Given the description of an element on the screen output the (x, y) to click on. 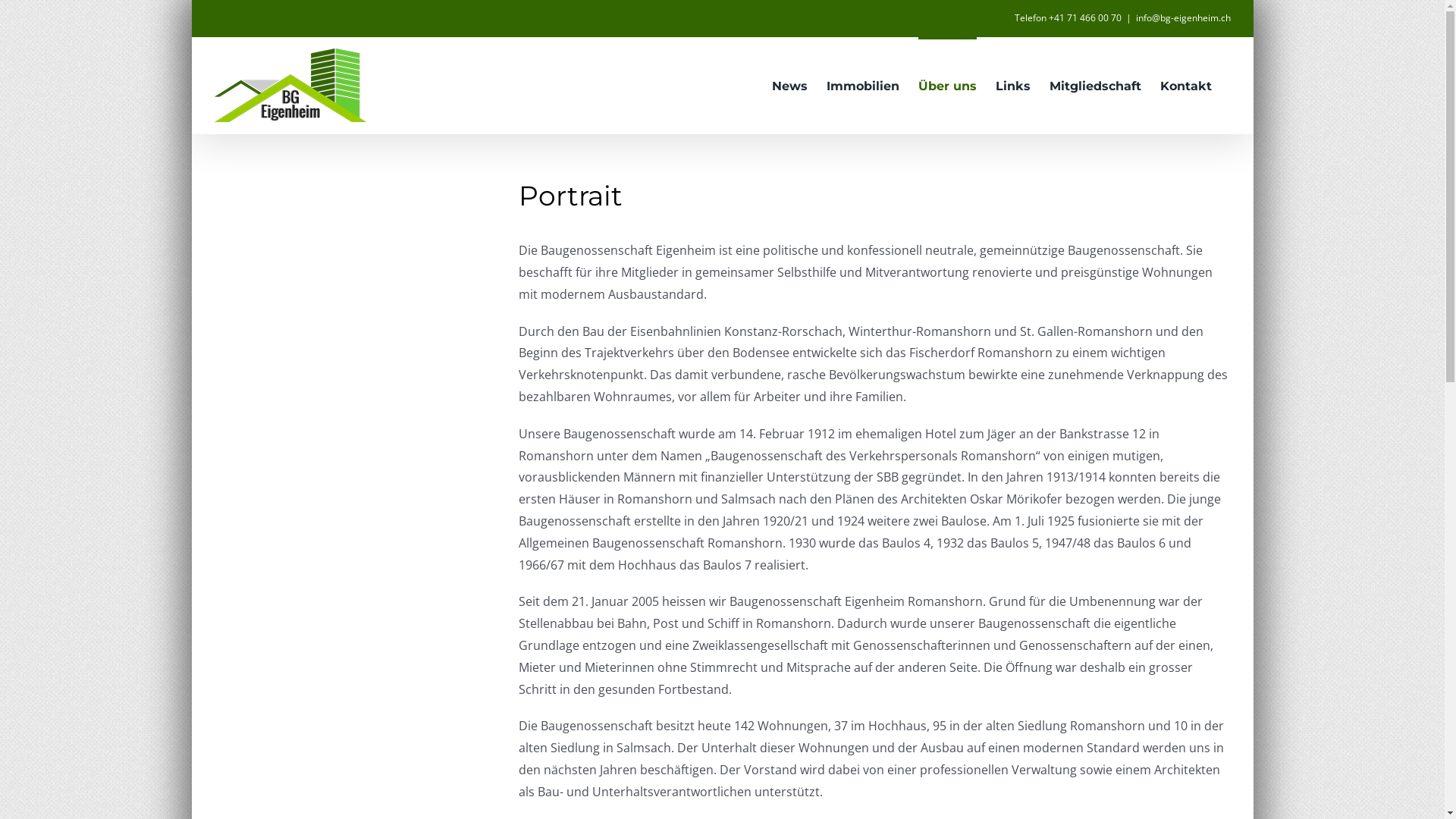
info@bg-eigenheim.ch Element type: text (1182, 17)
Telefon +41 71 466 00 70 Element type: text (1067, 17)
News Element type: text (789, 85)
Mitgliedschaft Element type: text (1095, 85)
Immobilien Element type: text (862, 85)
Links Element type: text (1011, 85)
Kontakt Element type: text (1185, 85)
